Given the description of an element on the screen output the (x, y) to click on. 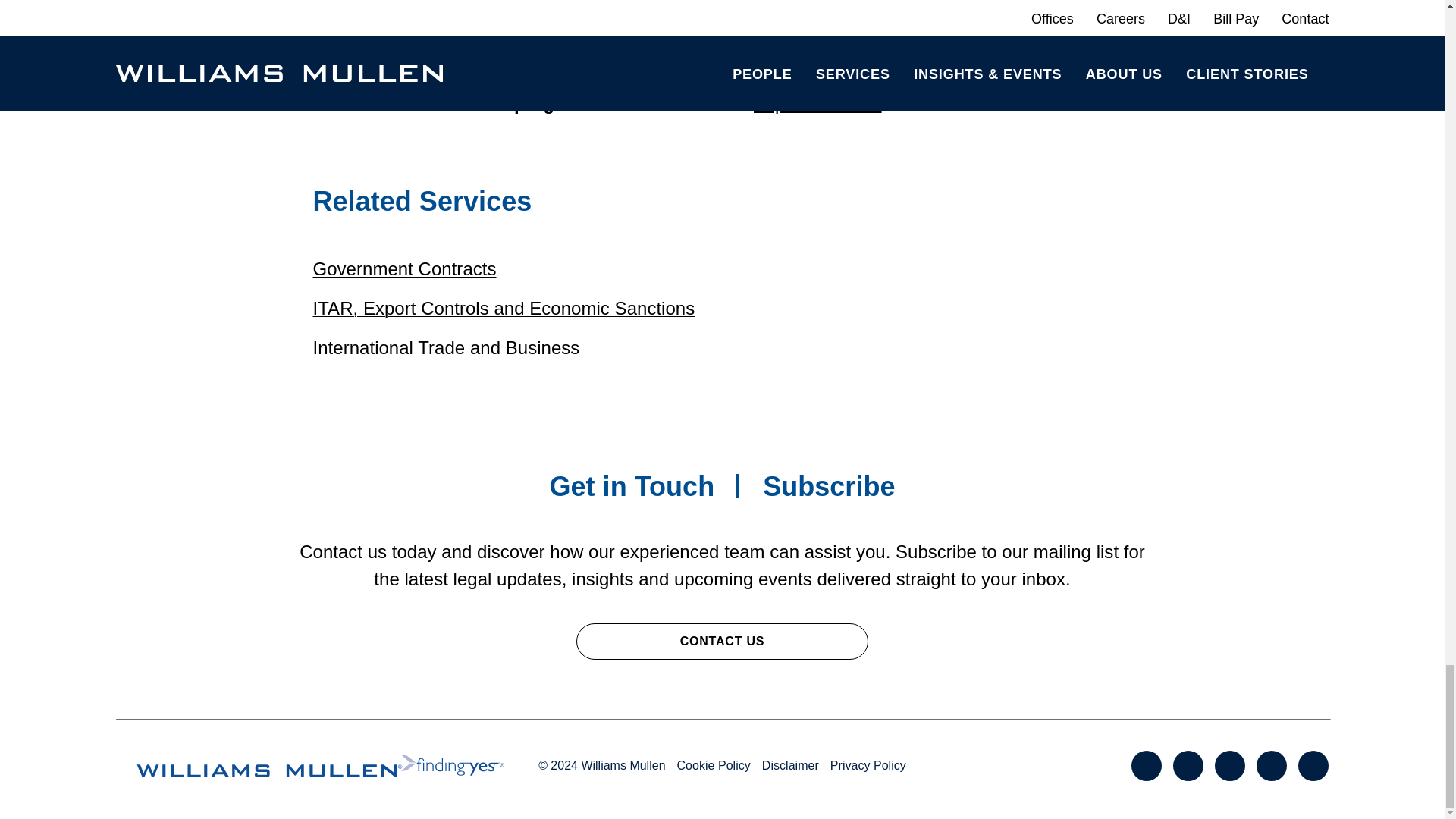
ITAR, Export Controls and Economic Sanctions (503, 308)
CONTACT US (721, 641)
Thomas McVey (375, 76)
Subscribe (828, 486)
Government Contracts (404, 268)
Get in Touch (631, 486)
International Trade and Business (446, 347)
